Given the description of an element on the screen output the (x, y) to click on. 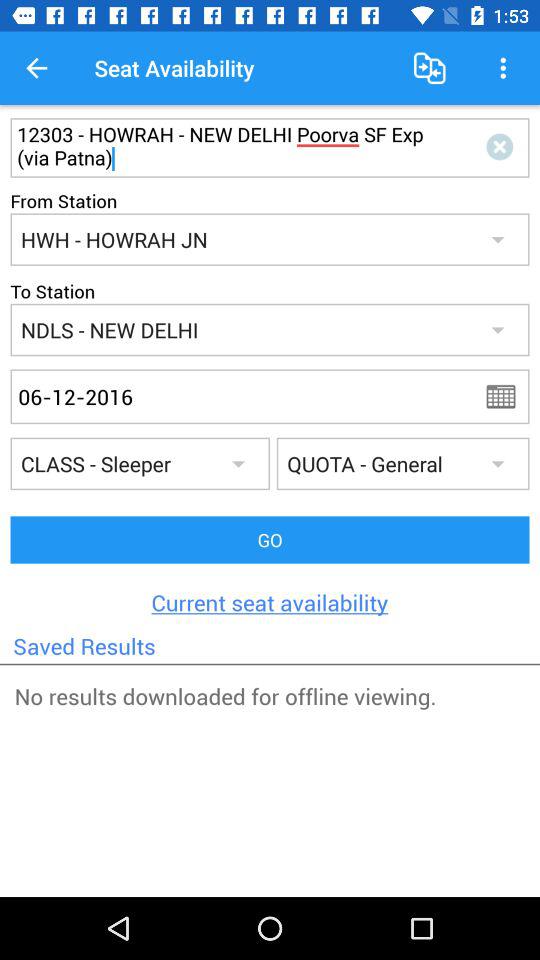
select go icon (269, 539)
